Given the description of an element on the screen output the (x, y) to click on. 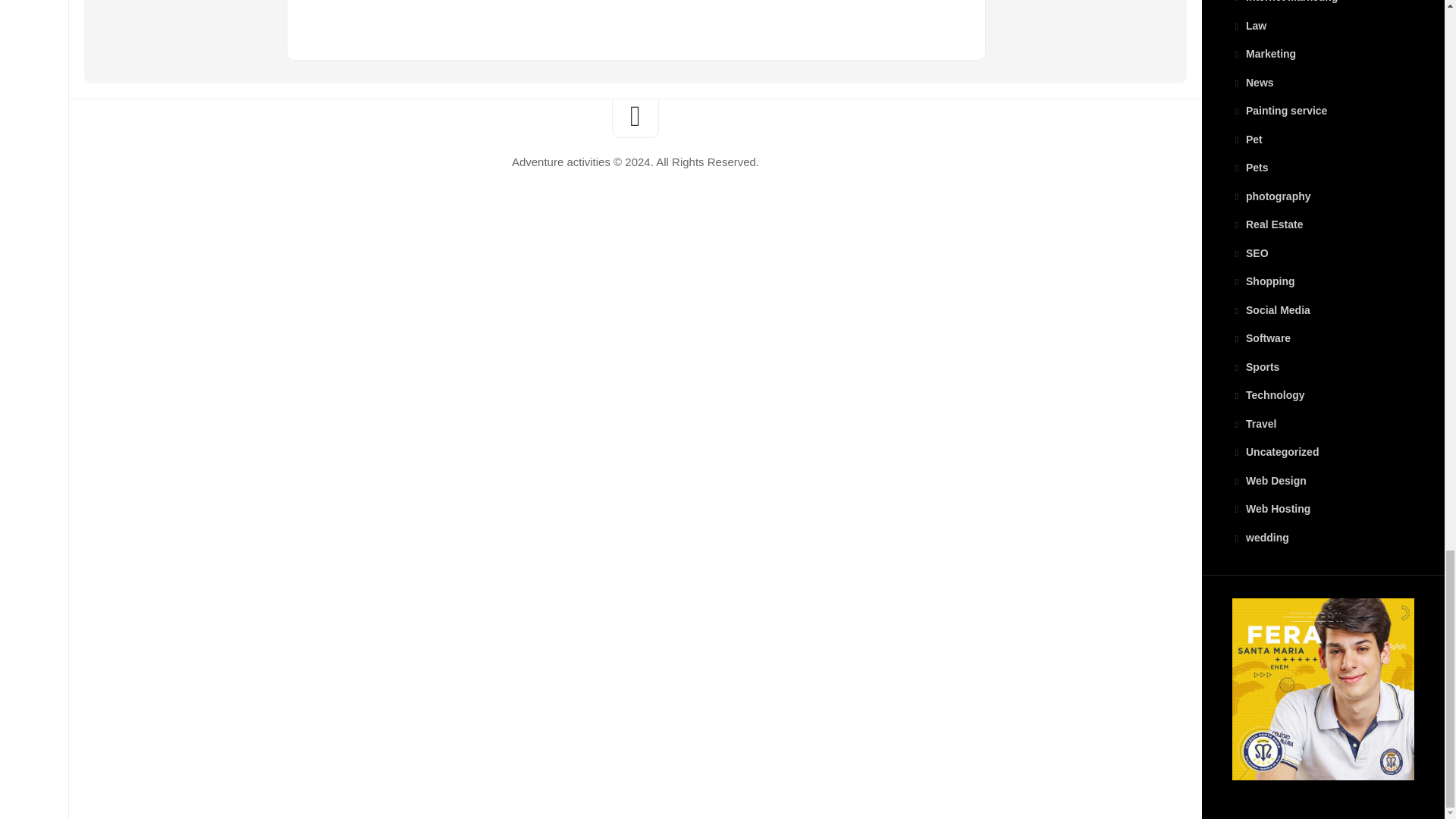
Law (1248, 25)
Internet Marketing (1284, 1)
